Given the description of an element on the screen output the (x, y) to click on. 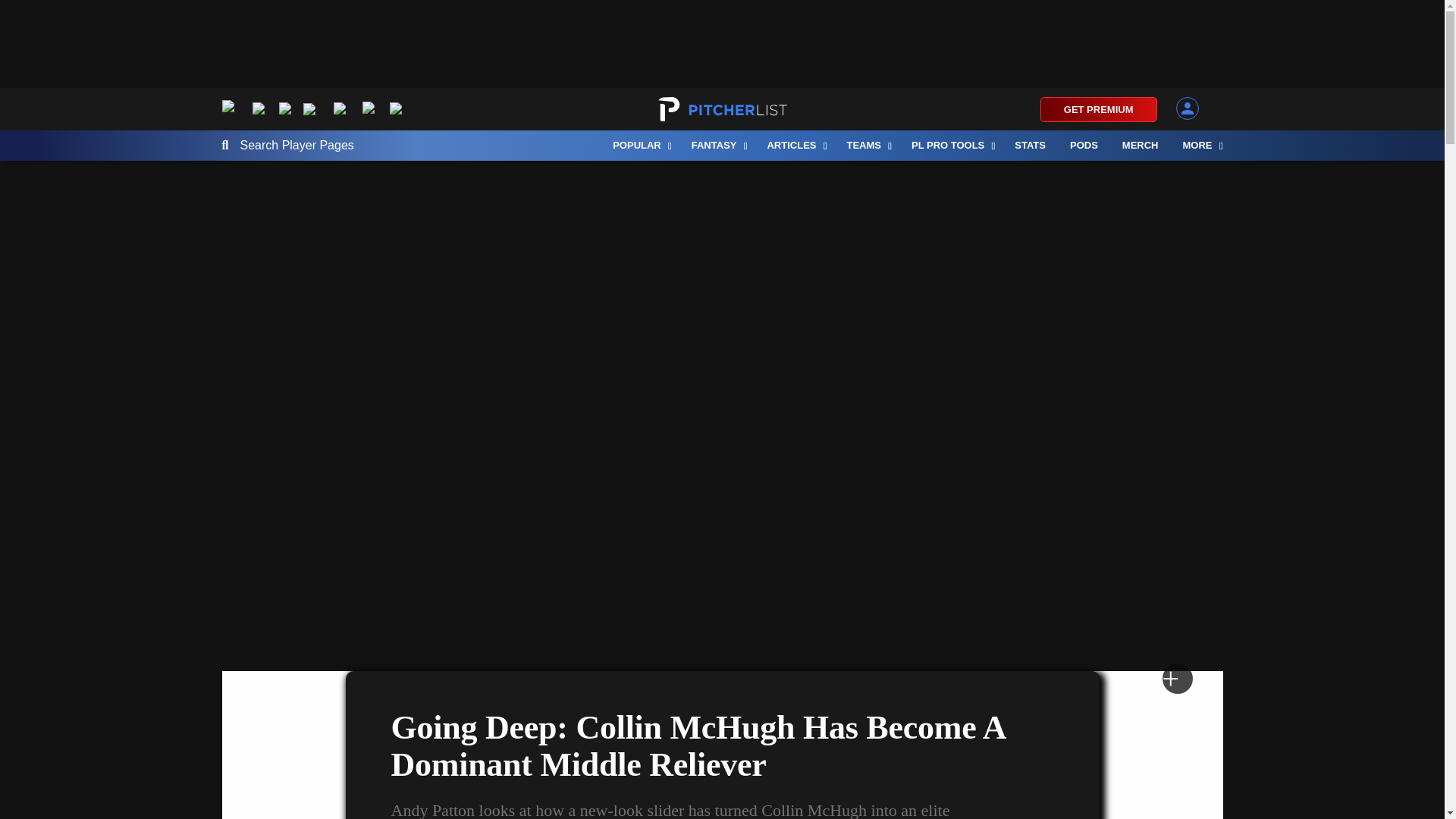
GET PREMIUM (1099, 109)
FANTASY (717, 145)
